Given the description of an element on the screen output the (x, y) to click on. 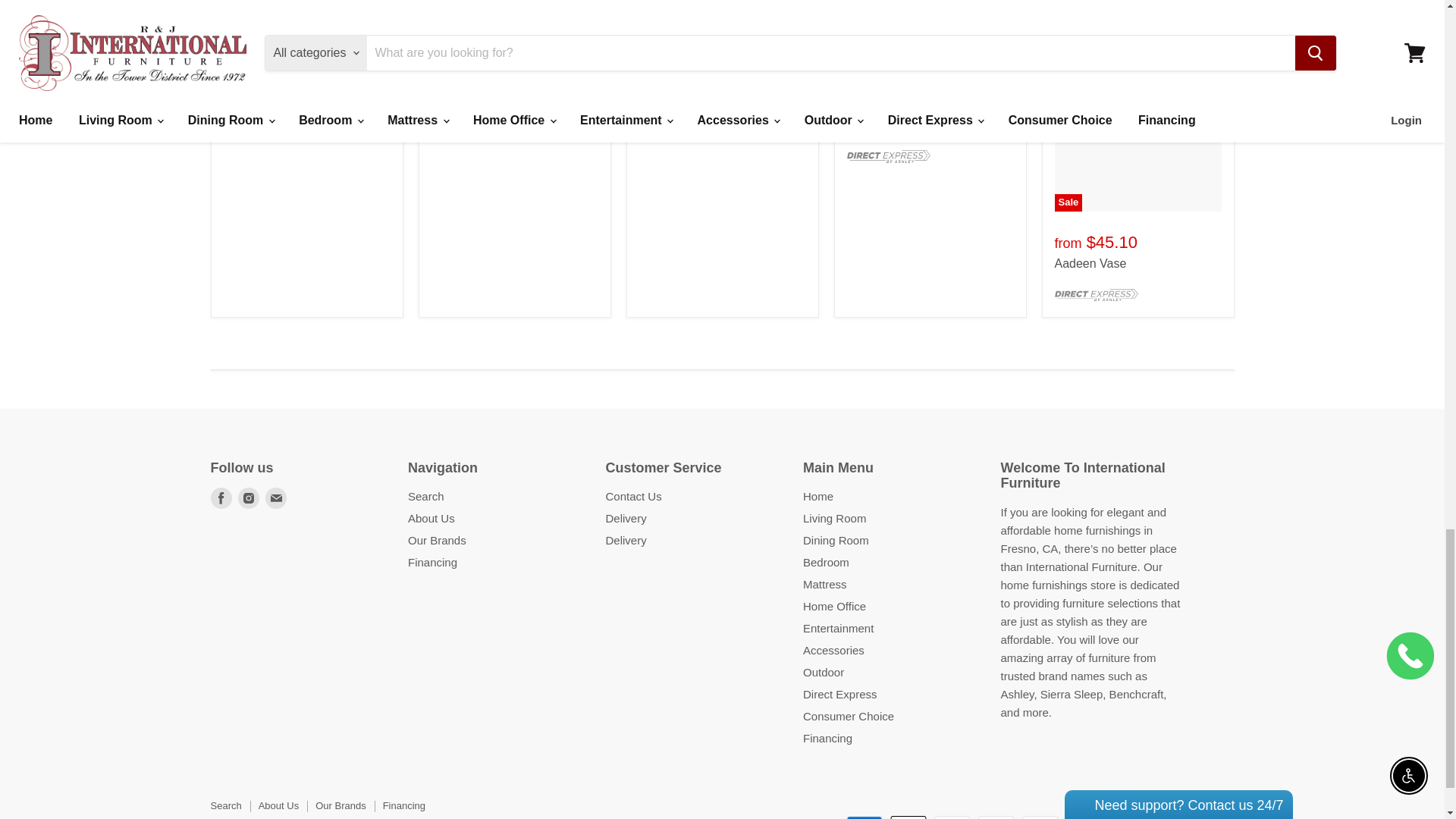
E-mail (275, 497)
Facebook (221, 497)
Instagram (248, 497)
